Given the description of an element on the screen output the (x, y) to click on. 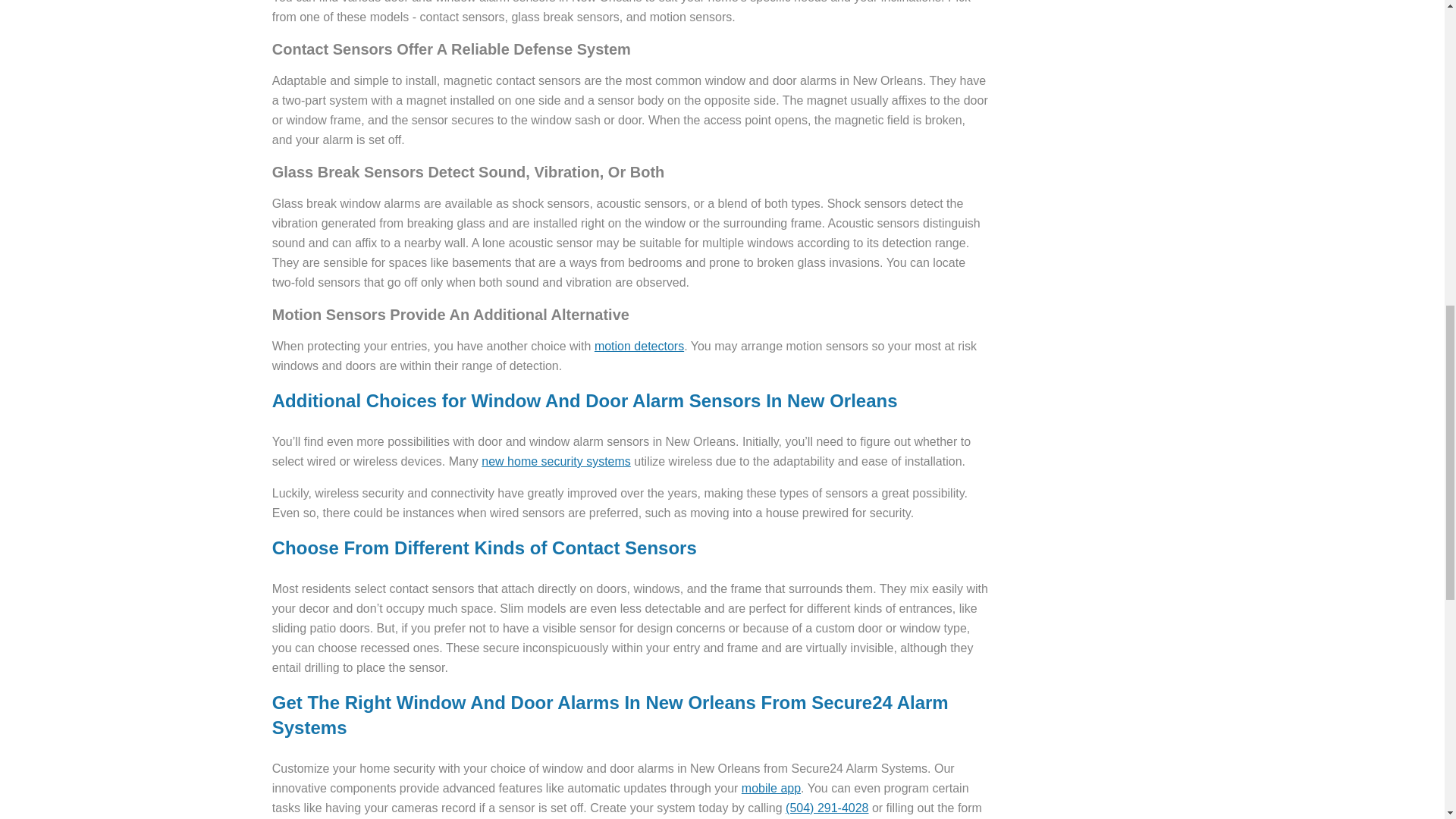
Smartphone app (770, 788)
Motion detectors (639, 345)
Modern home security systems (555, 461)
